Given the description of an element on the screen output the (x, y) to click on. 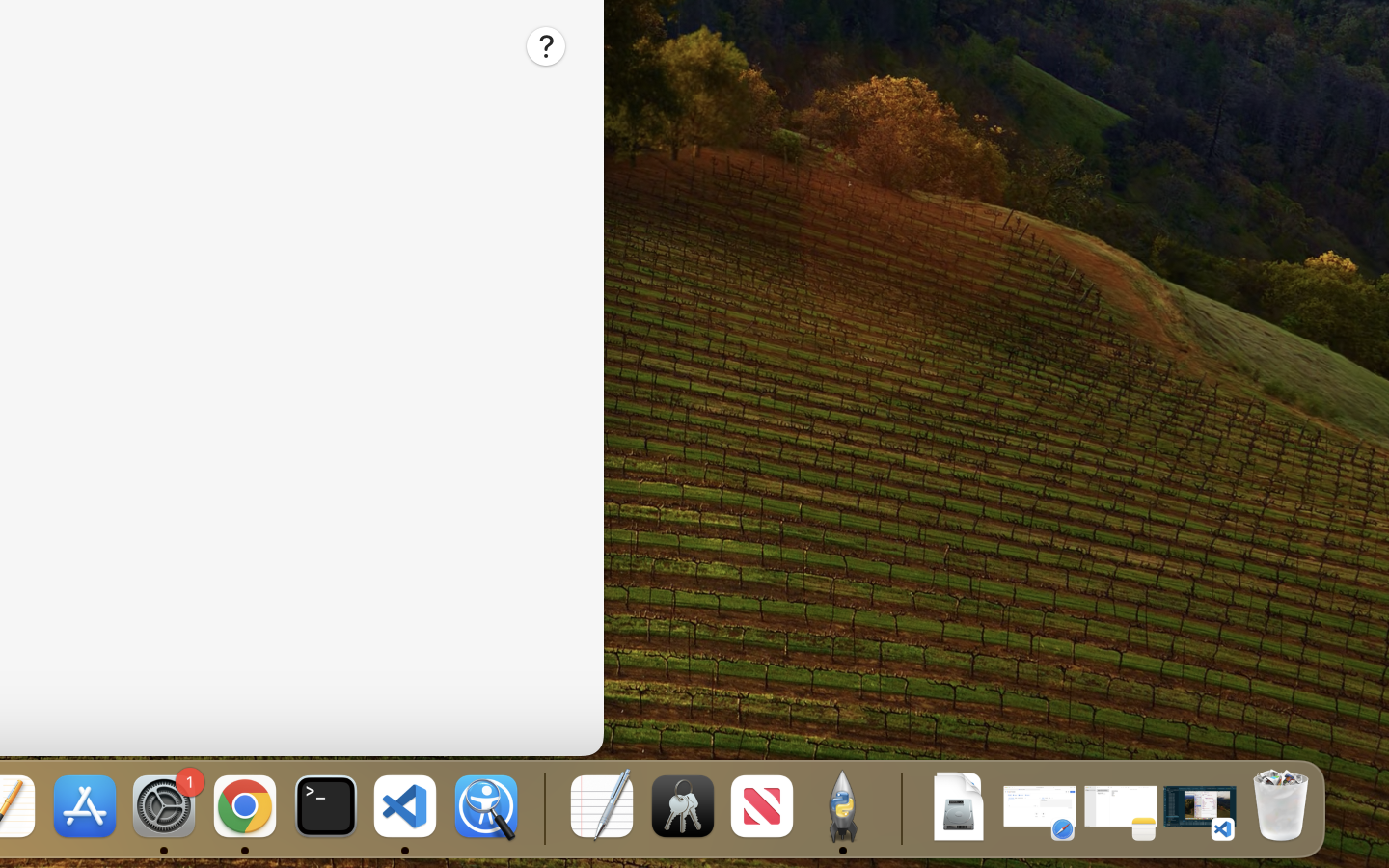
0.4285714328289032 Element type: AXDockItem (541, 807)
